Given the description of an element on the screen output the (x, y) to click on. 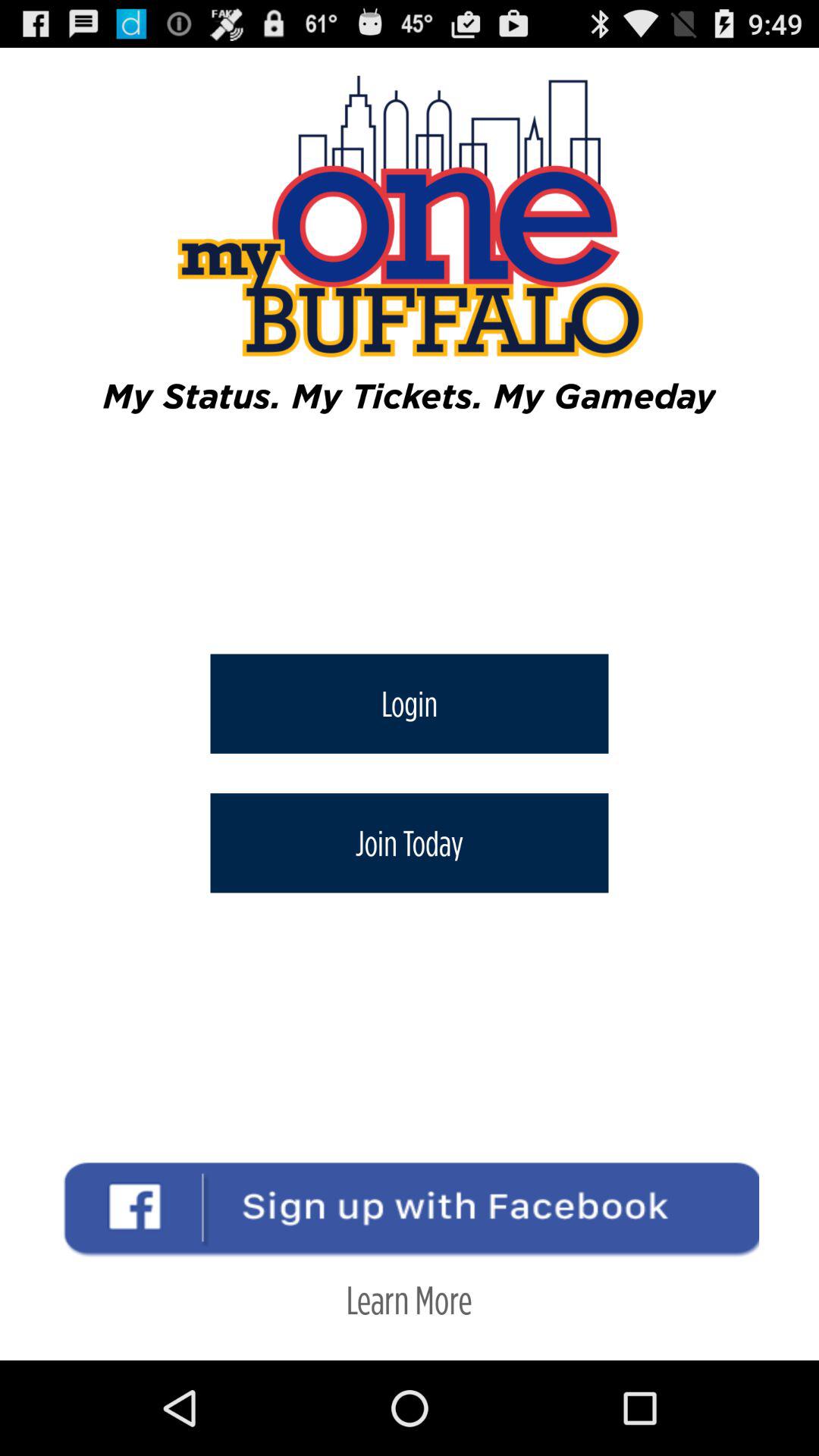
scroll until login (409, 703)
